Given the description of an element on the screen output the (x, y) to click on. 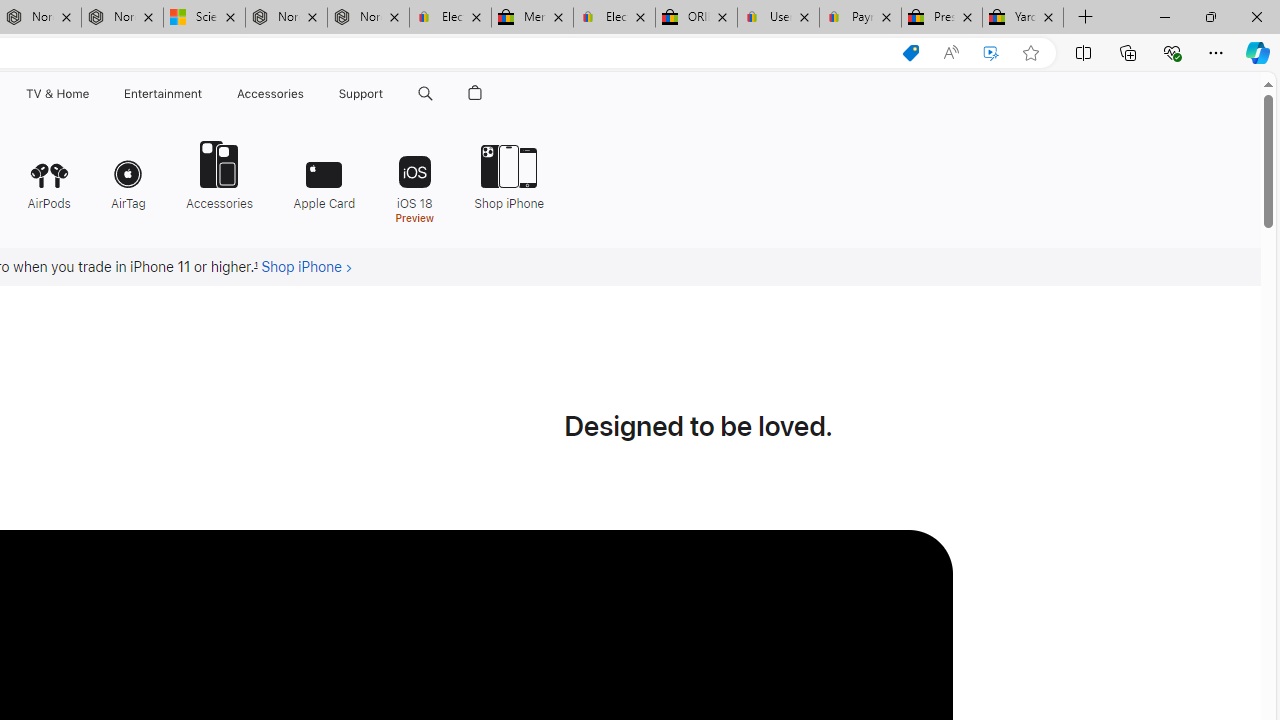
Search apple.com (425, 93)
Apple Card (324, 173)
Entertainment menu (205, 93)
TV and Home menu (92, 93)
AirPods (48, 173)
AirPods (48, 173)
AirTag (128, 173)
AirTag (128, 173)
Shopping Bag (475, 93)
TV & Home (56, 93)
Accessories (219, 173)
